Given the description of an element on the screen output the (x, y) to click on. 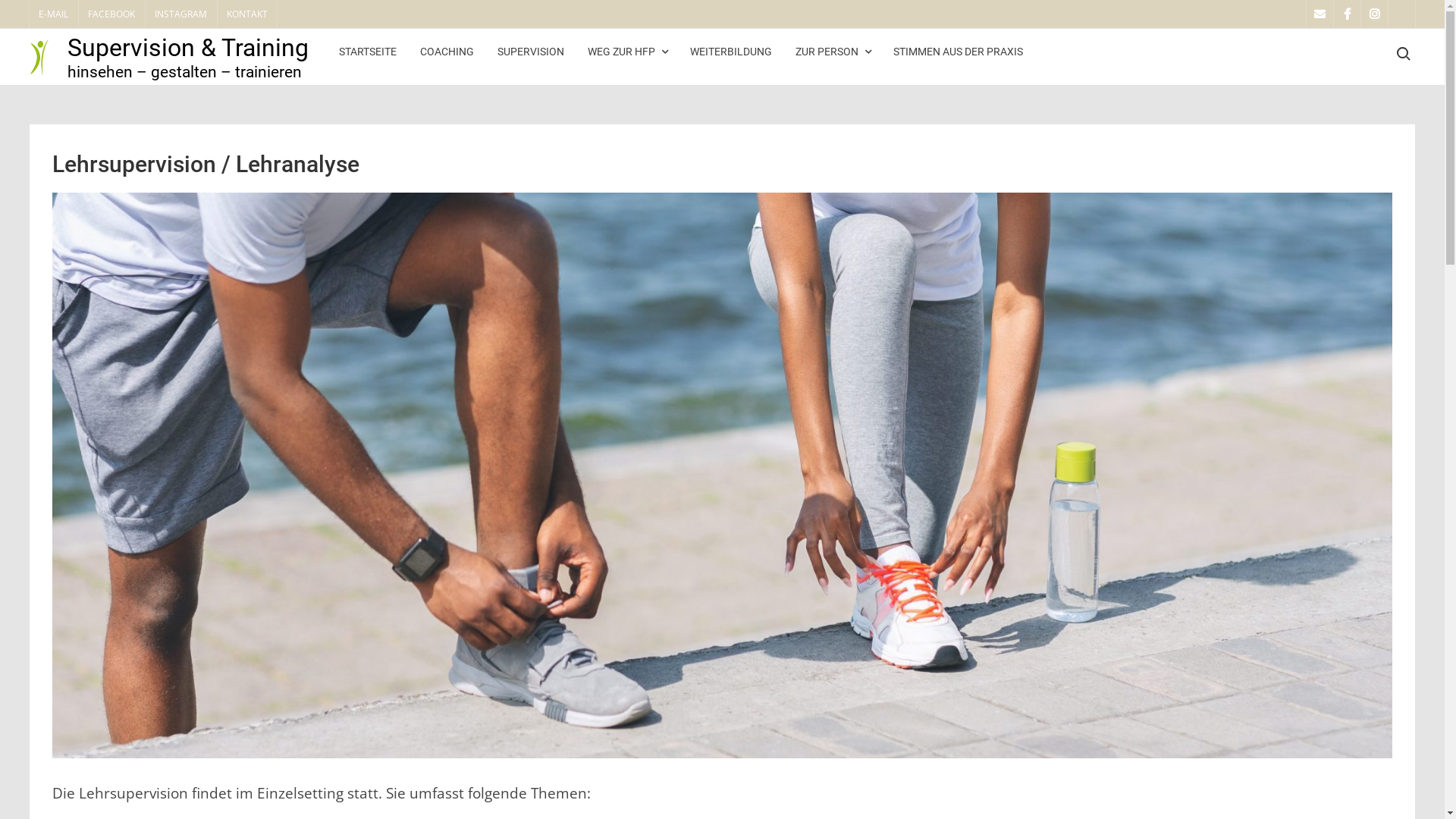
WEG ZUR HFP Element type: text (626, 51)
Supervision & Training Element type: text (187, 47)
E-MAIL Element type: text (53, 14)
SUPERVISION Element type: text (530, 51)
STARTSEITE Element type: text (367, 51)
STIMMEN AUS DER PRAXIS Element type: text (957, 51)
WEITERBILDUNG Element type: text (730, 51)
ZUR PERSON Element type: text (832, 51)
Search for: Element type: text (1402, 53)
FACEBOOK Element type: text (111, 14)
INSTAGRAM Element type: text (180, 14)
KONTAKT Element type: text (246, 14)
COACHING Element type: text (446, 51)
